Given the description of an element on the screen output the (x, y) to click on. 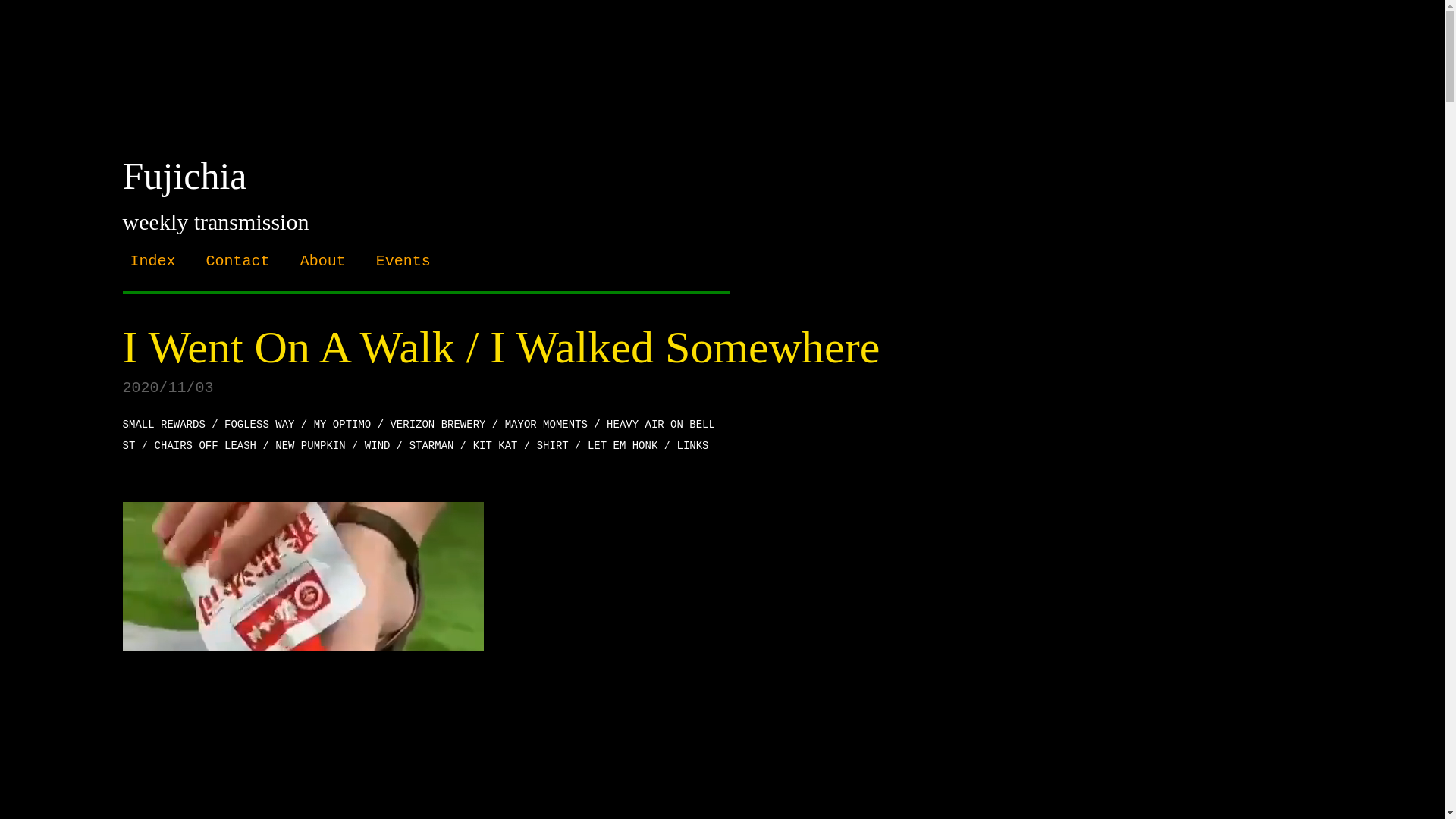
About (322, 261)
Index (153, 261)
Contact (237, 261)
Events (402, 261)
